Given the description of an element on the screen output the (x, y) to click on. 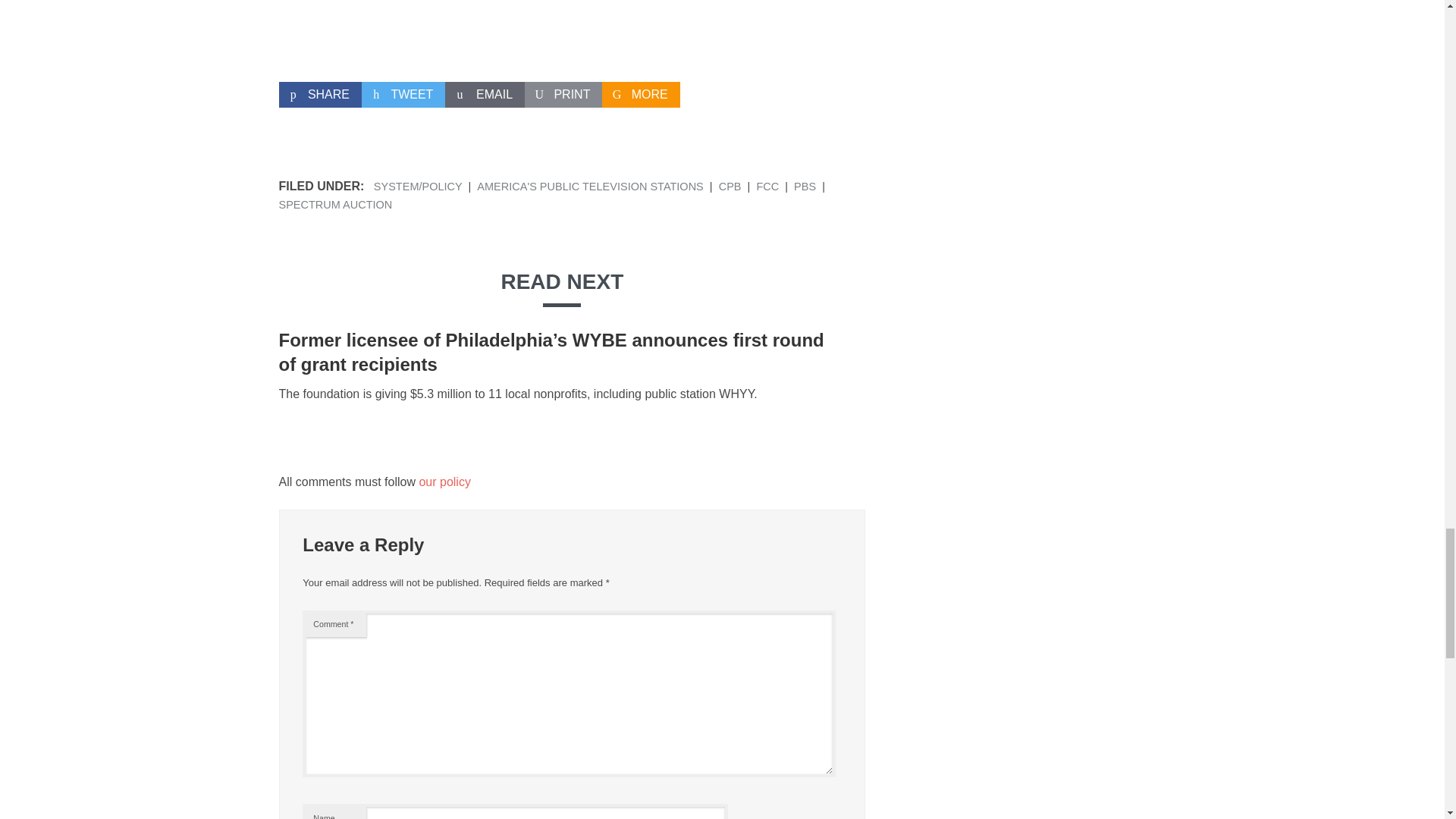
Read Posts tagged with: PBS (804, 186)
Read Posts tagged with: spectrum auction (336, 204)
Read Posts tagged with: FCC (766, 186)
Read:  (551, 351)
Read Posts tagged with: America's Public Television Stations (590, 186)
Read Posts tagged with: CPB (730, 186)
Print this article (563, 94)
